Given the description of an element on the screen output the (x, y) to click on. 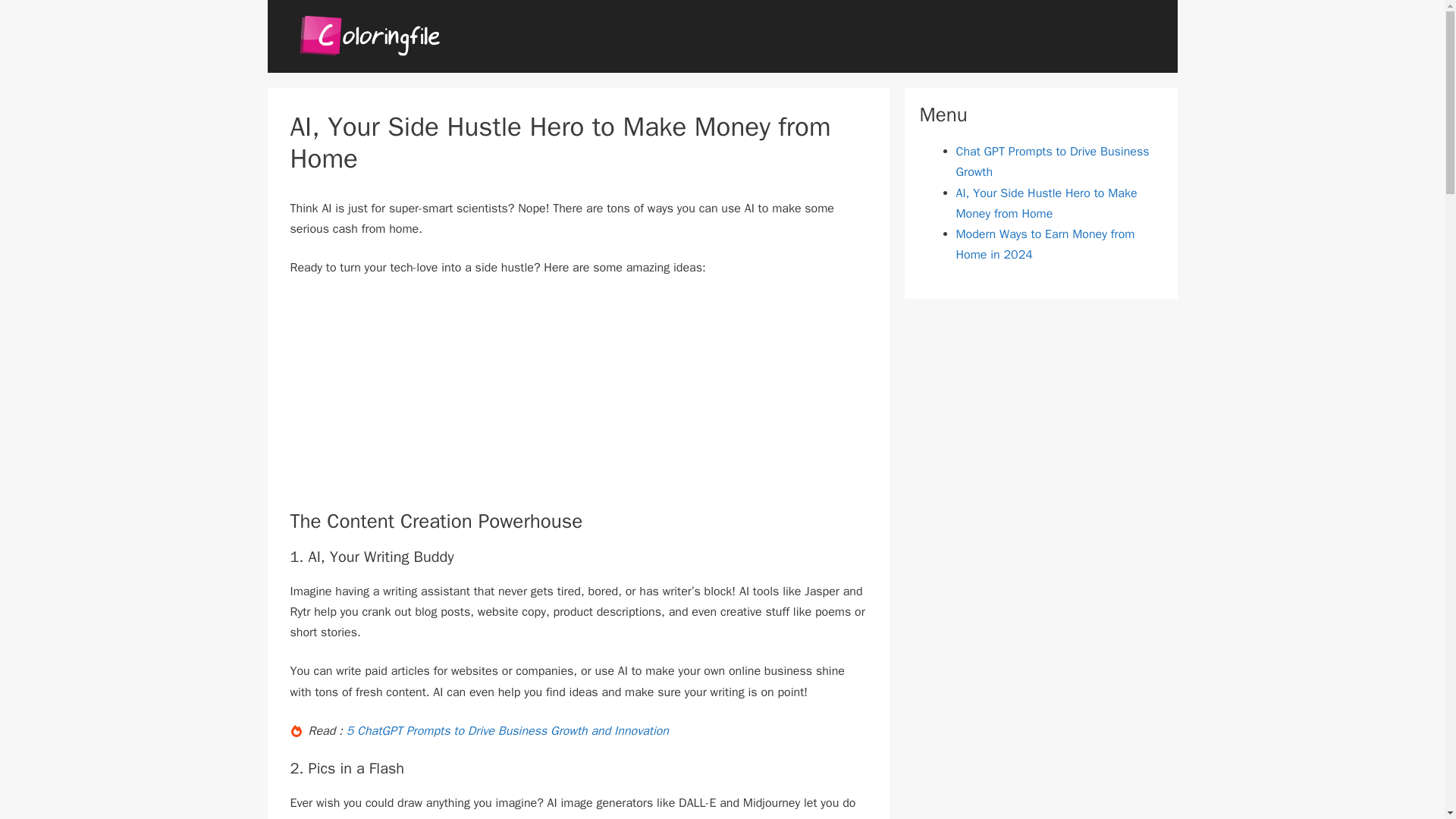
Chat GPT Prompts to Drive Business Growth (1051, 161)
Advertisement (577, 403)
AI, Your Side Hustle Hero to Make Money from Home (1046, 203)
Modern Ways to Earn Money from Home in 2024 (1044, 244)
5 ChatGPT Prompts to Drive Business Growth and Innovation (507, 730)
